Given the description of an element on the screen output the (x, y) to click on. 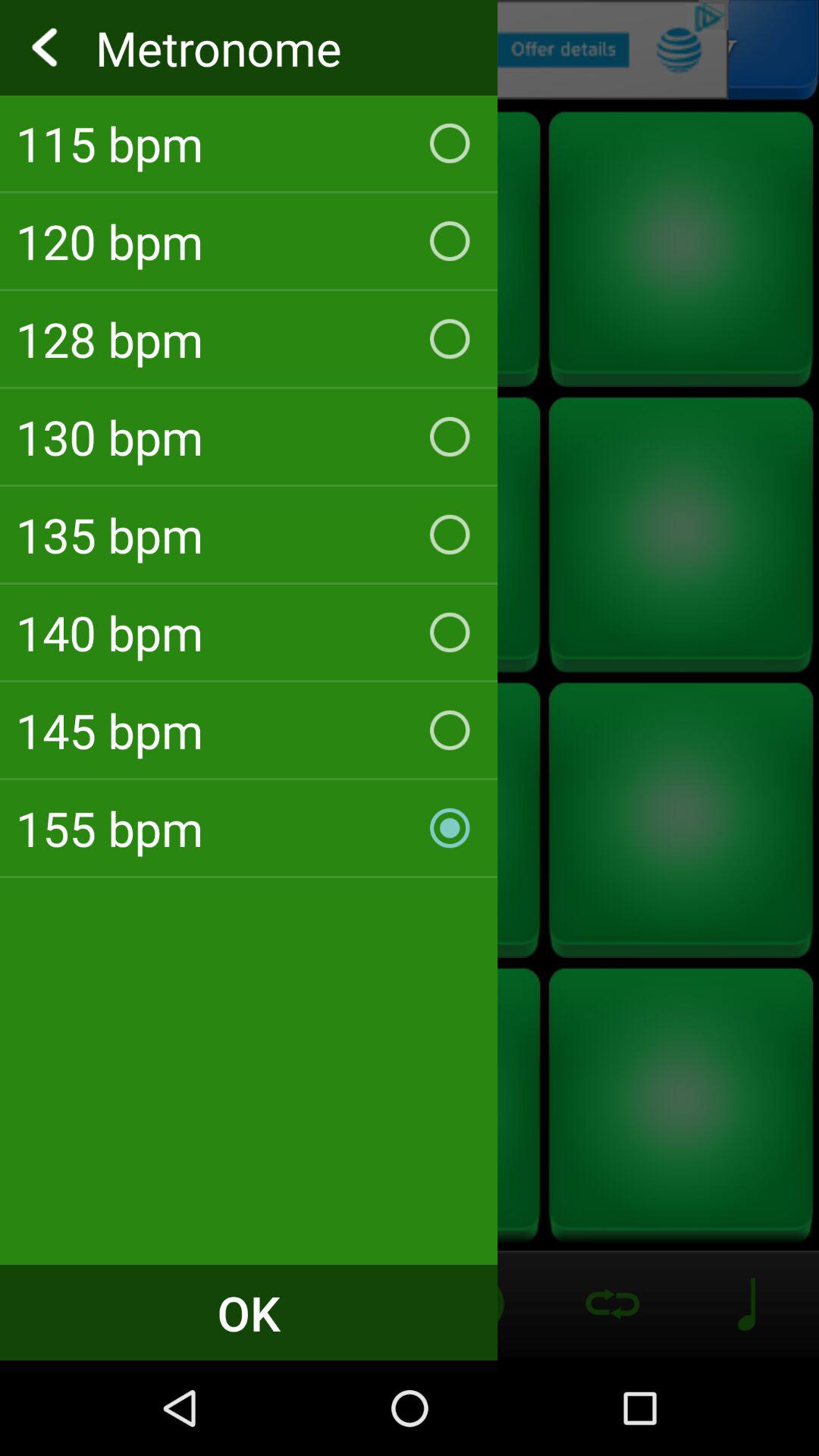
launch the 120 bpm icon (248, 240)
